Given the description of an element on the screen output the (x, y) to click on. 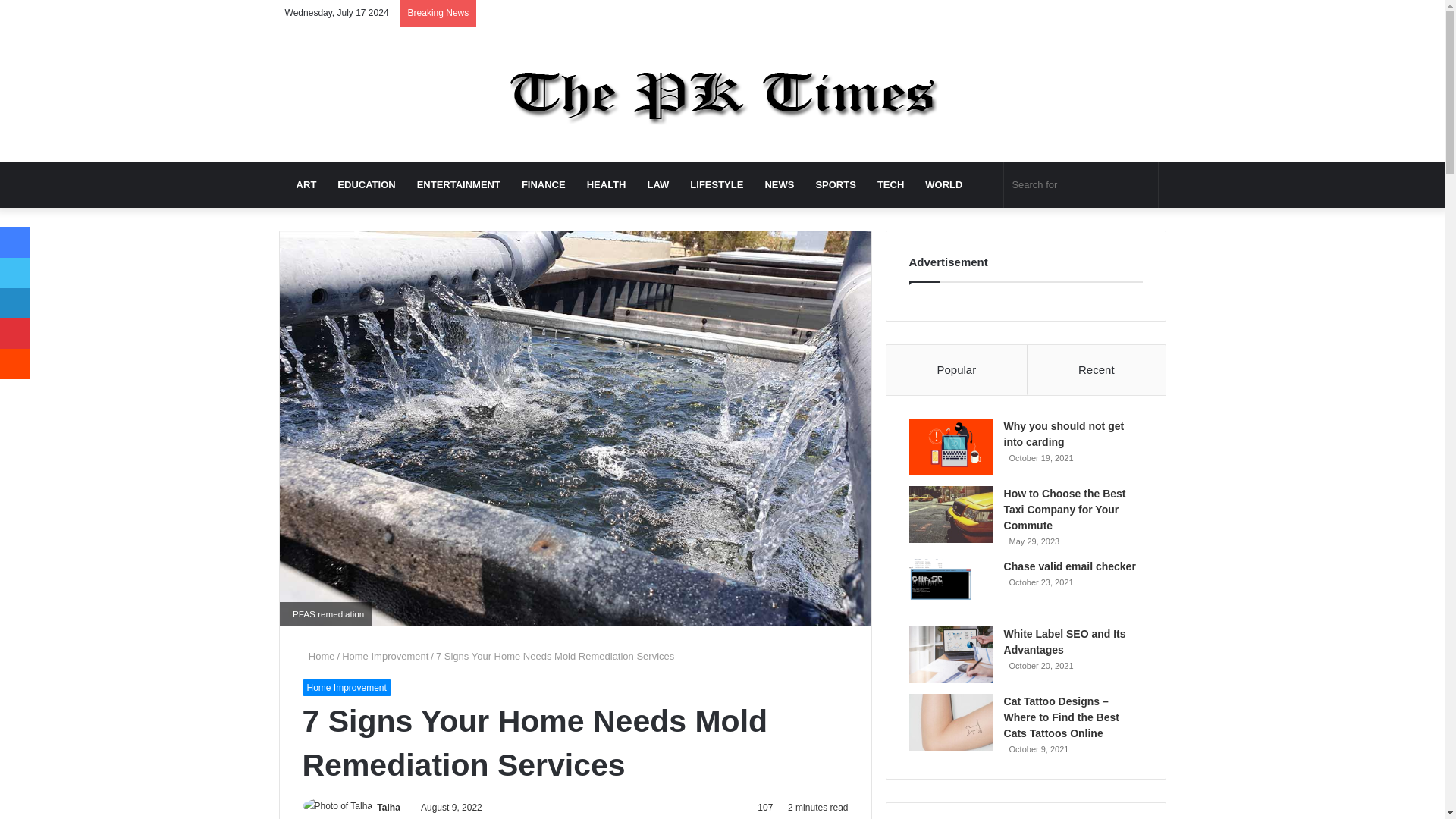
SPORTS (835, 185)
Home Improvement (345, 687)
FINANCE (543, 185)
Home (317, 655)
ART (306, 185)
ENTERTAINMENT (458, 185)
LIFESTYLE (716, 185)
EDUCATION (366, 185)
The PK Times (722, 94)
WORLD (943, 185)
LAW (657, 185)
NEWS (779, 185)
HEALTH (606, 185)
Talha (387, 807)
Talha (387, 807)
